Given the description of an element on the screen output the (x, y) to click on. 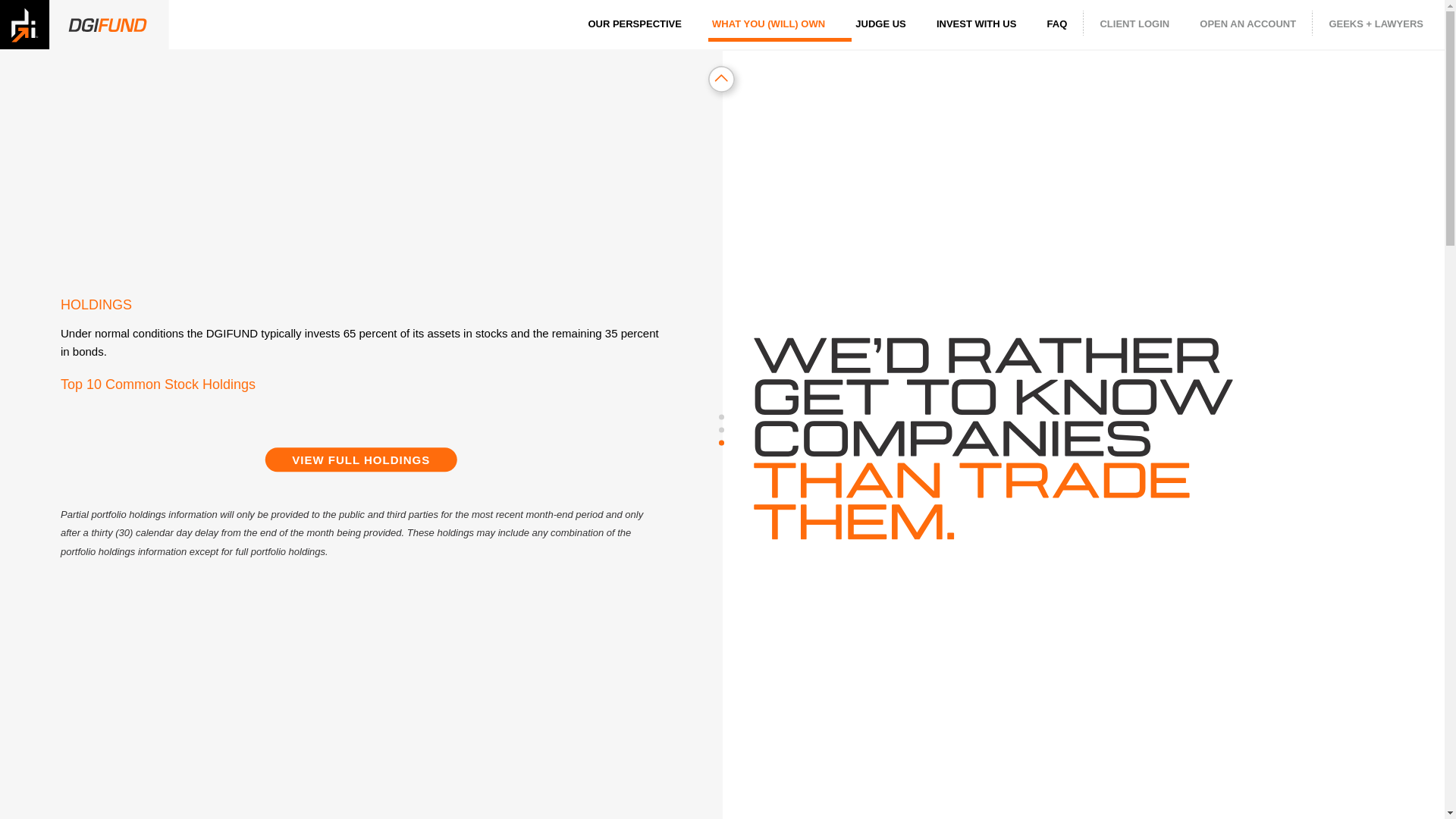
OUR PERSPECTIVE (634, 23)
JUDGE US (880, 23)
